Given the description of an element on the screen output the (x, y) to click on. 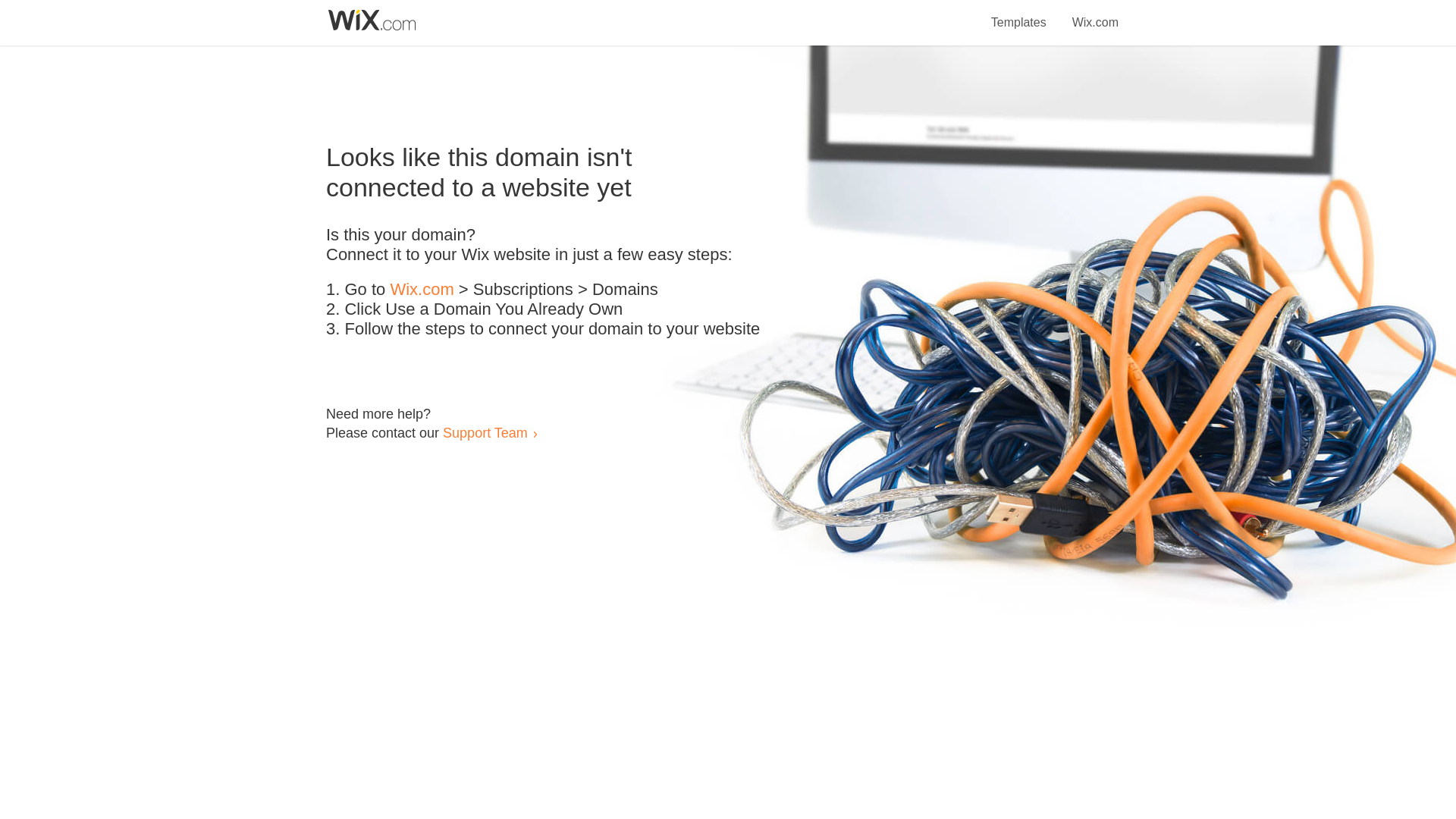
Wix.com (421, 289)
Wix.com (1095, 14)
Templates (1018, 14)
Support Team (484, 432)
